Given the description of an element on the screen output the (x, y) to click on. 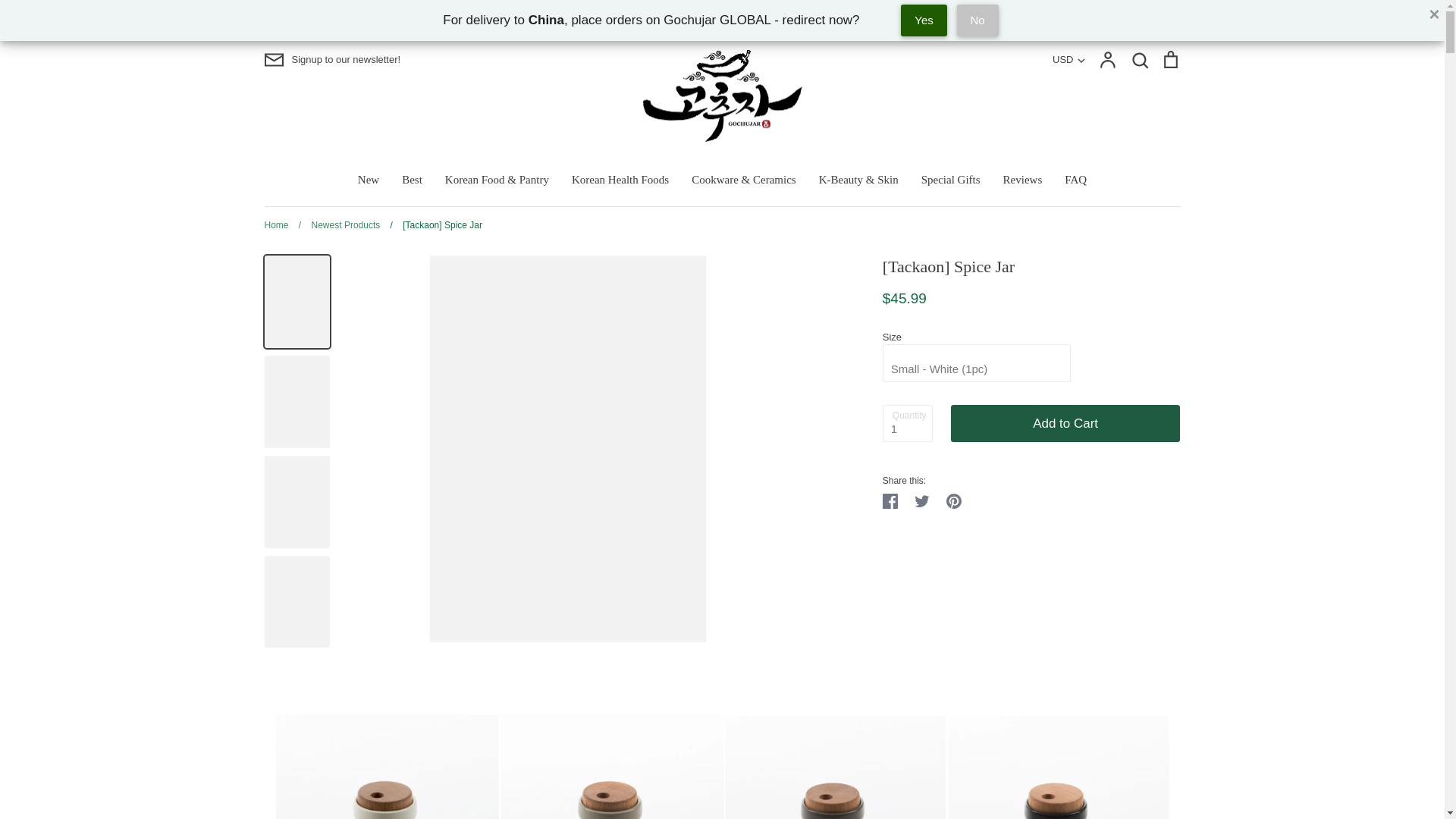
Signup to our newsletter! (331, 59)
Account (1107, 59)
Search (1139, 59)
Best (411, 179)
Cart (1169, 59)
New (368, 179)
